Given the description of an element on the screen output the (x, y) to click on. 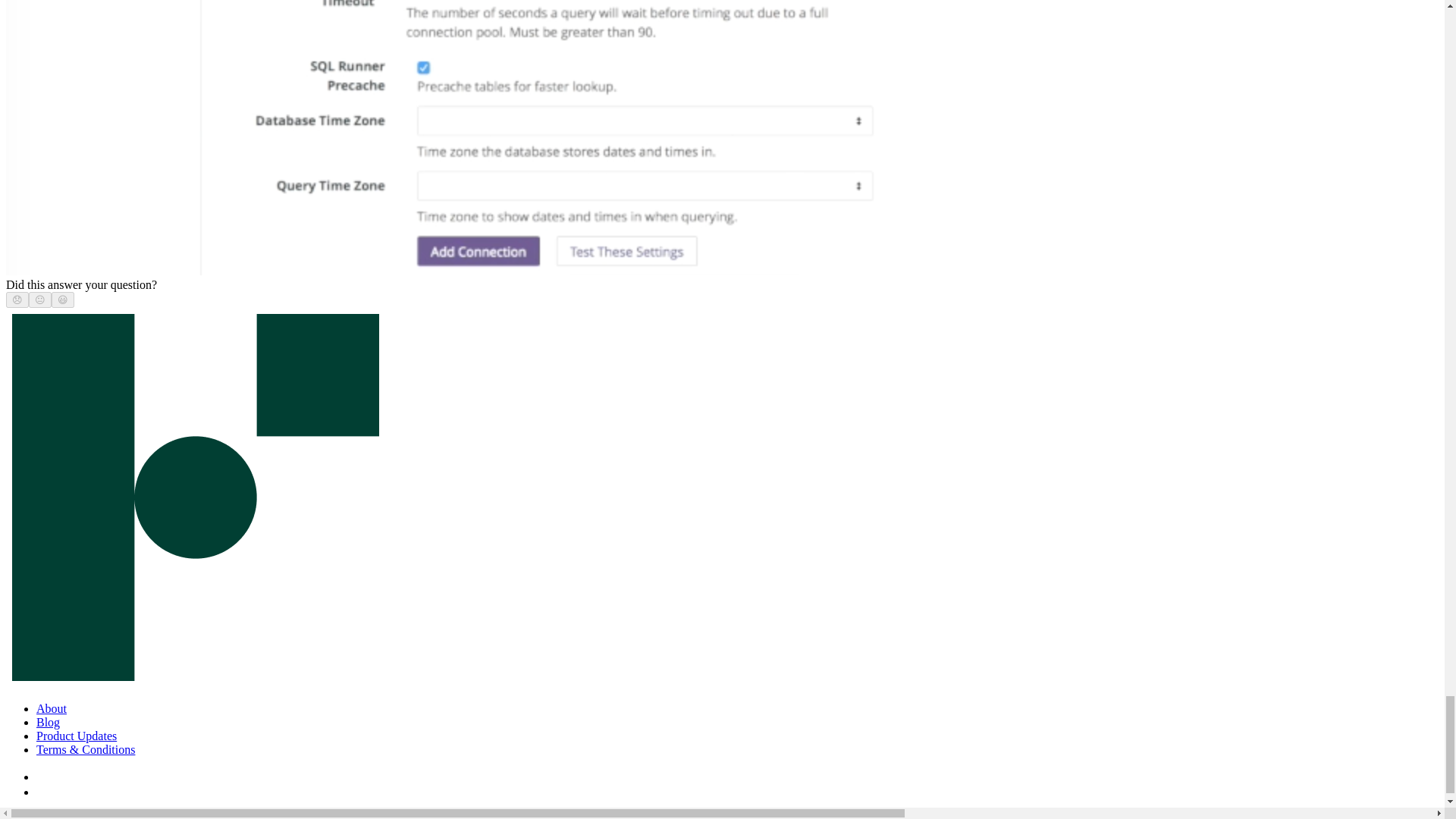
Smiley (63, 299)
Product Updates (76, 735)
Blog (47, 721)
Disappointed (17, 299)
Neutral (39, 299)
About (51, 707)
